Given the description of an element on the screen output the (x, y) to click on. 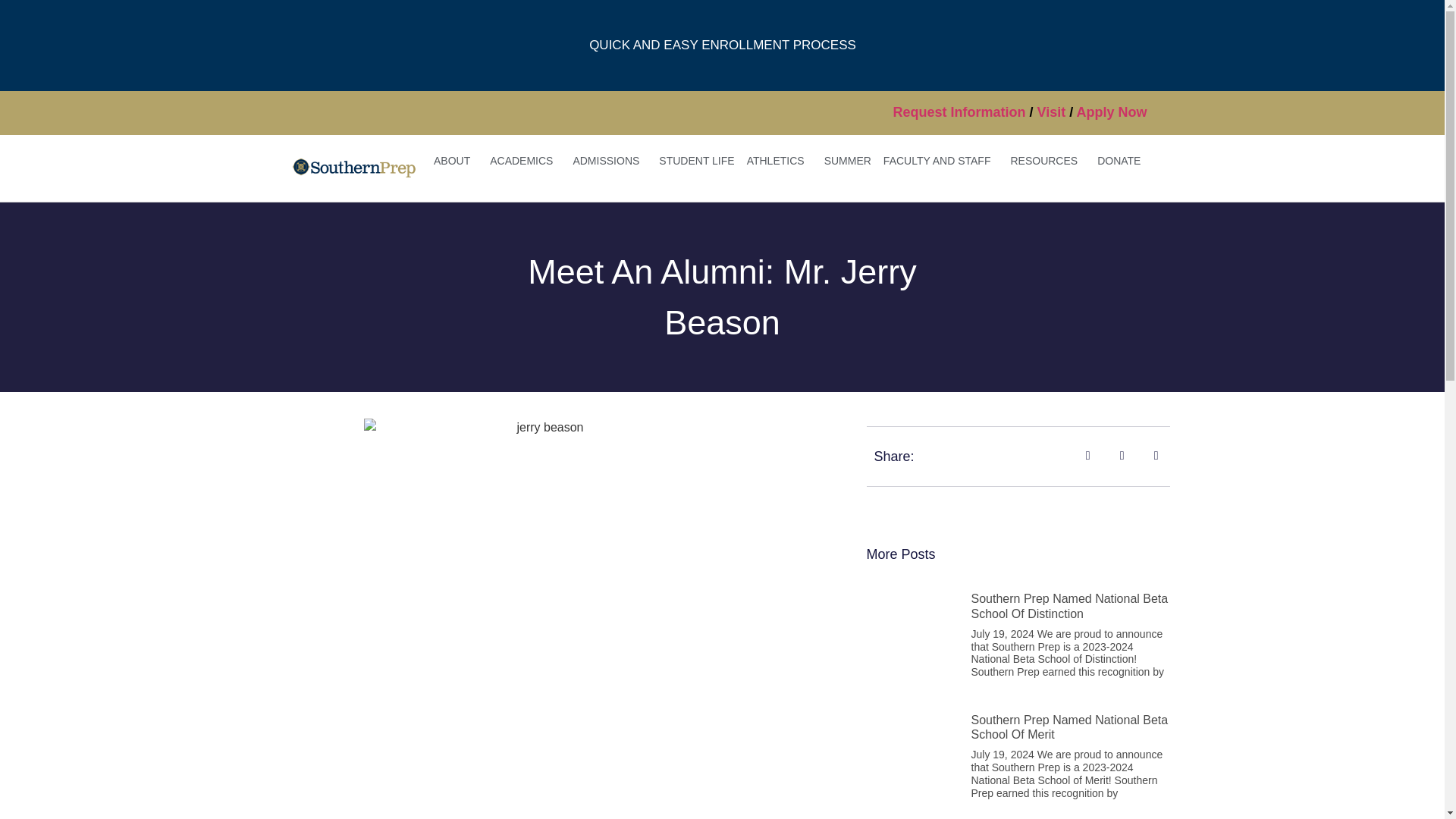
ACADEMICS (524, 160)
QUICK AND EASY ENROLLMENT PROCESS (722, 45)
ATHLETICS (779, 160)
ABOUT (455, 160)
Request Information (958, 111)
ADMISSIONS (609, 160)
Apply Now (1112, 111)
STUDENT LIFE (695, 160)
Visit (1050, 111)
